Given the description of an element on the screen output the (x, y) to click on. 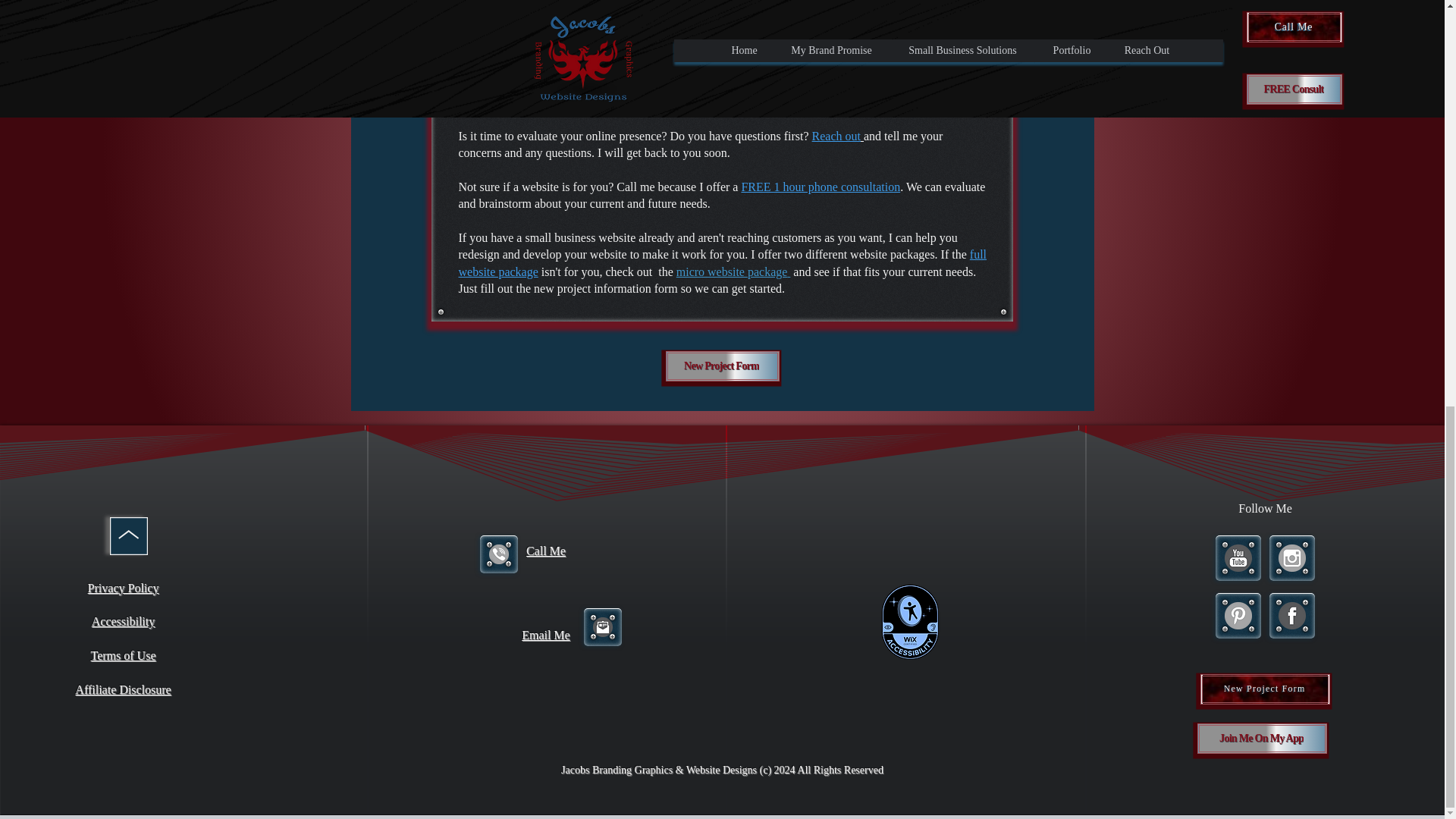
visual brand identity service (857, 51)
New Project Form (721, 366)
micro website package (732, 271)
Affiliate Disclosure (122, 689)
Reach out (836, 135)
Privacy Policy (122, 587)
full website package (722, 262)
Accessibility (123, 621)
Email Me (545, 634)
Call Me (545, 550)
Terms of Use (122, 655)
FREE 1 hour phone consultation (820, 186)
